Given the description of an element on the screen output the (x, y) to click on. 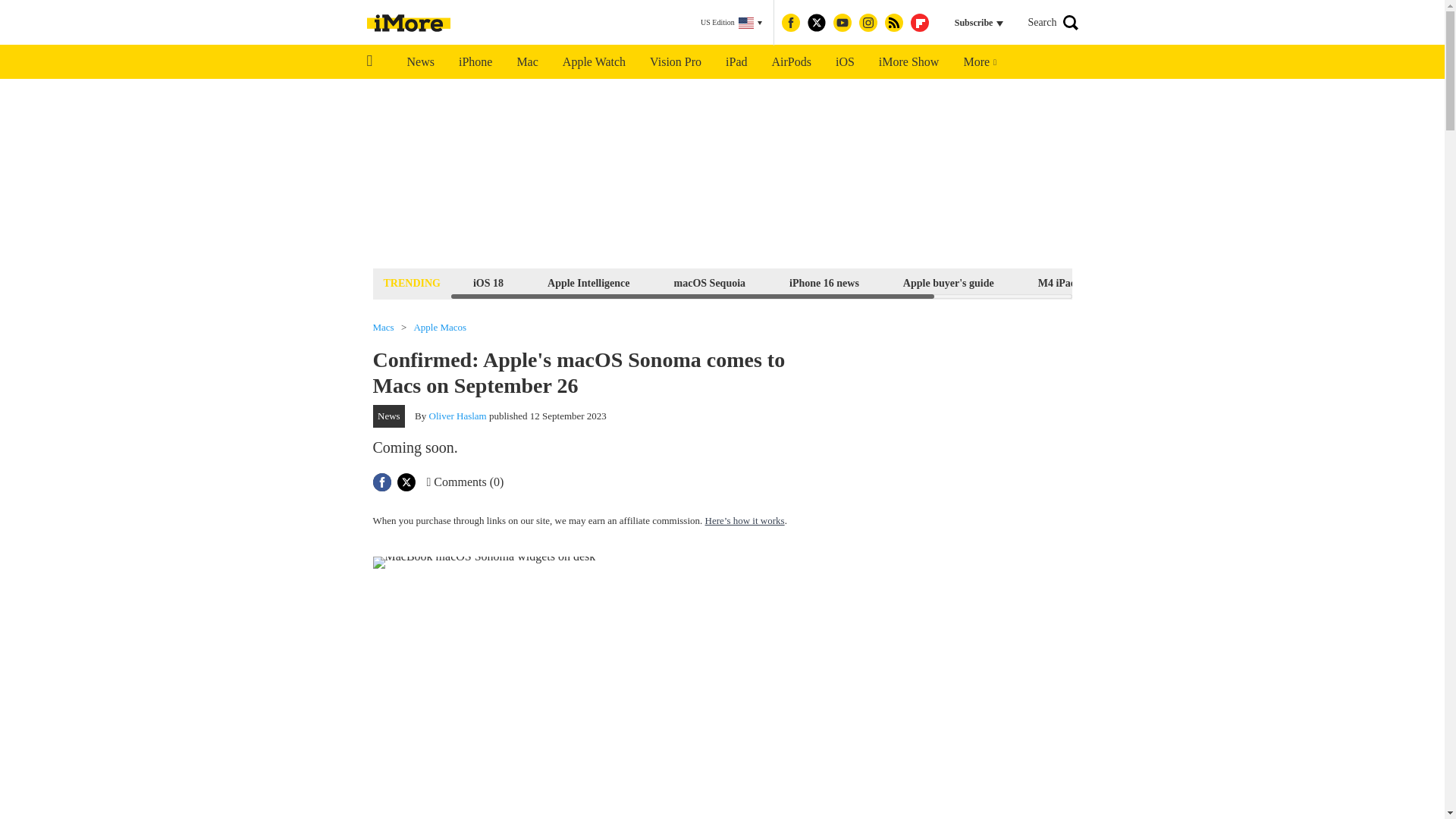
Vision Pro (675, 61)
US Edition (731, 22)
iPhone (474, 61)
iPad (735, 61)
AirPods (792, 61)
Mac (526, 61)
Apple Watch (593, 61)
iOS (845, 61)
News (419, 61)
iMore Show (909, 61)
